Given the description of an element on the screen output the (x, y) to click on. 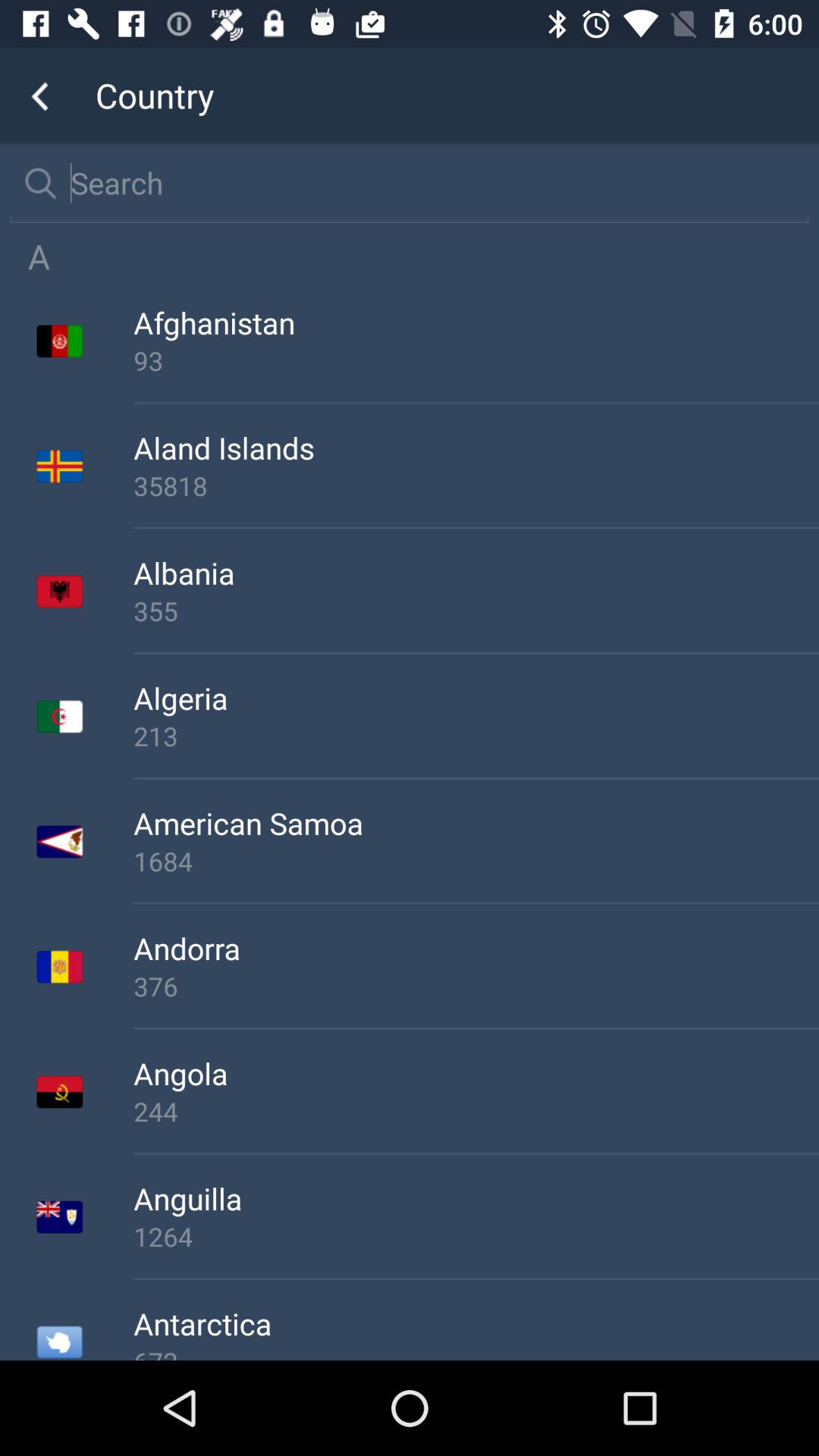
scroll until the 35818 (476, 485)
